Given the description of an element on the screen output the (x, y) to click on. 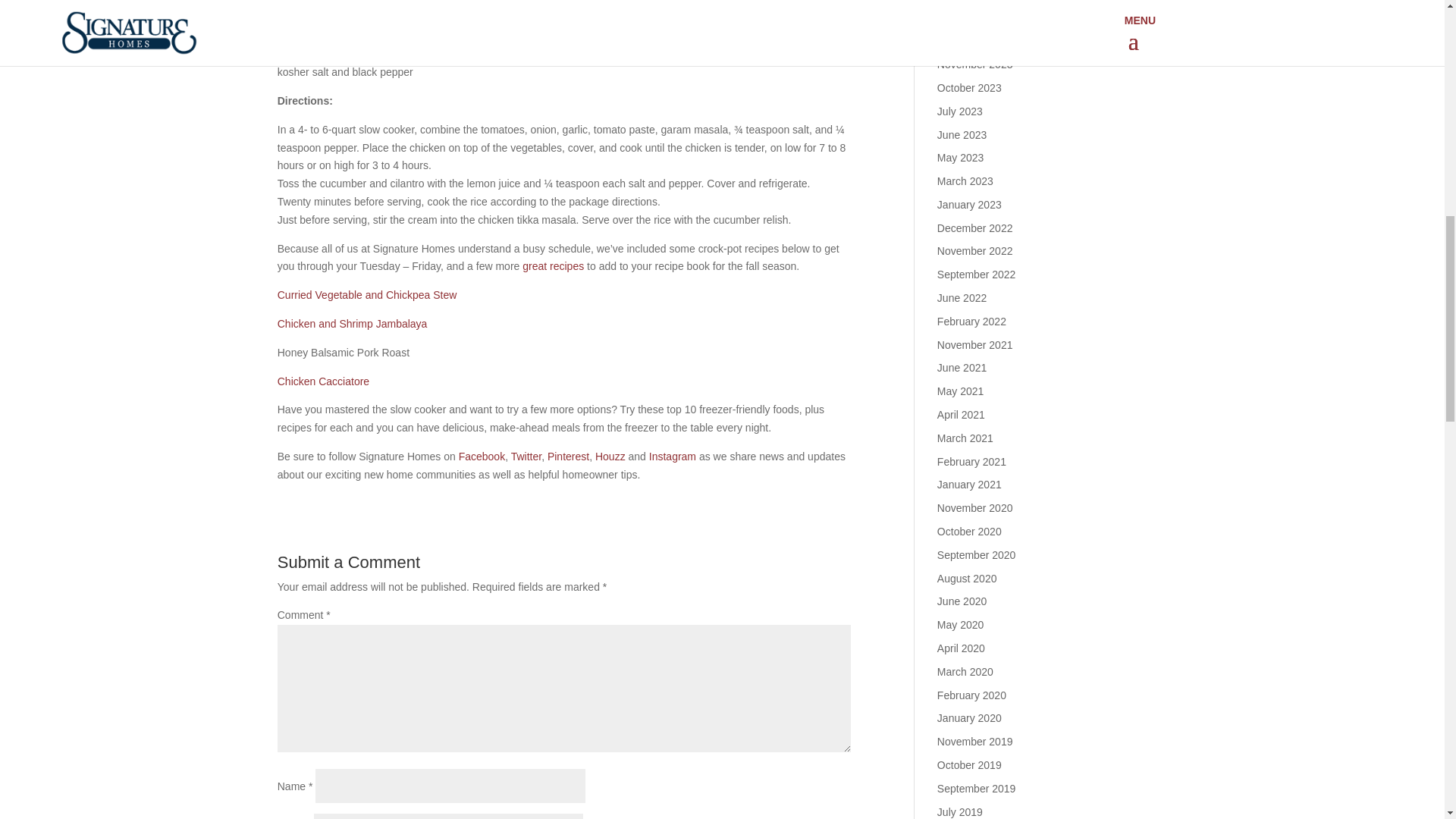
Chicken and Shrimp Jambalaya (353, 323)
Houzz (610, 456)
great recipes (552, 265)
Curried Vegetable and Chickpea Stew (367, 295)
Facebook (481, 456)
Twitter (526, 456)
Pinterest (568, 456)
Instagram (672, 456)
Chicken Cacciatore (323, 381)
